Given the description of an element on the screen output the (x, y) to click on. 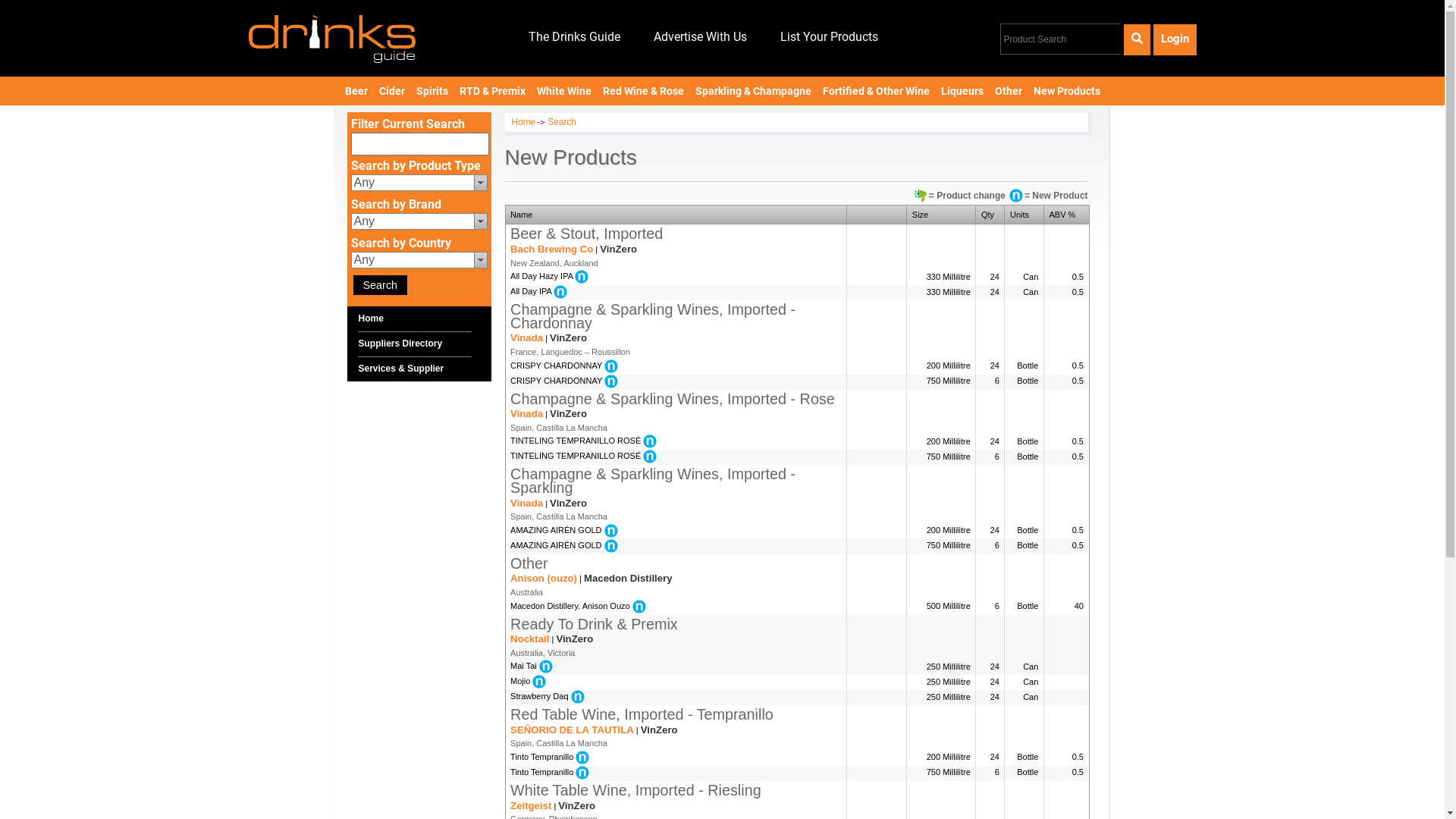
The Drinks Guide Element type: text (574, 38)
GO Element type: text (10, 8)
Home Element type: text (528, 122)
Spirits Element type: text (431, 90)
List Your Products Element type: text (829, 38)
VinZero Element type: text (574, 638)
Cider Element type: text (391, 90)
VinZero Element type: text (567, 502)
VinZero Element type: text (658, 729)
Fortified & Other Wine Element type: text (875, 90)
New Products Element type: text (1066, 90)
Red Wine & Rose Element type: text (642, 90)
Services & Supplier Element type: text (400, 368)
Search Element type: text (380, 284)
Login Element type: text (1173, 39)
VinZero Element type: text (567, 337)
VinZero Element type: text (576, 805)
VinZero Element type: text (567, 413)
Suppliers Directory Element type: text (399, 343)
Advertise With Us Element type: text (699, 38)
White Wine Element type: text (563, 90)
Product Search Element type: hover (1059, 38)
Sparkling & Champagne Element type: text (752, 90)
RTD & Premix Element type: text (491, 90)
VinZero Element type: text (618, 248)
Macedon Distillery Element type: text (627, 577)
Other Element type: text (1007, 90)
Liqueurs Element type: text (961, 90)
Home Element type: text (369, 318)
Beer Element type: text (355, 90)
